Given the description of an element on the screen output the (x, y) to click on. 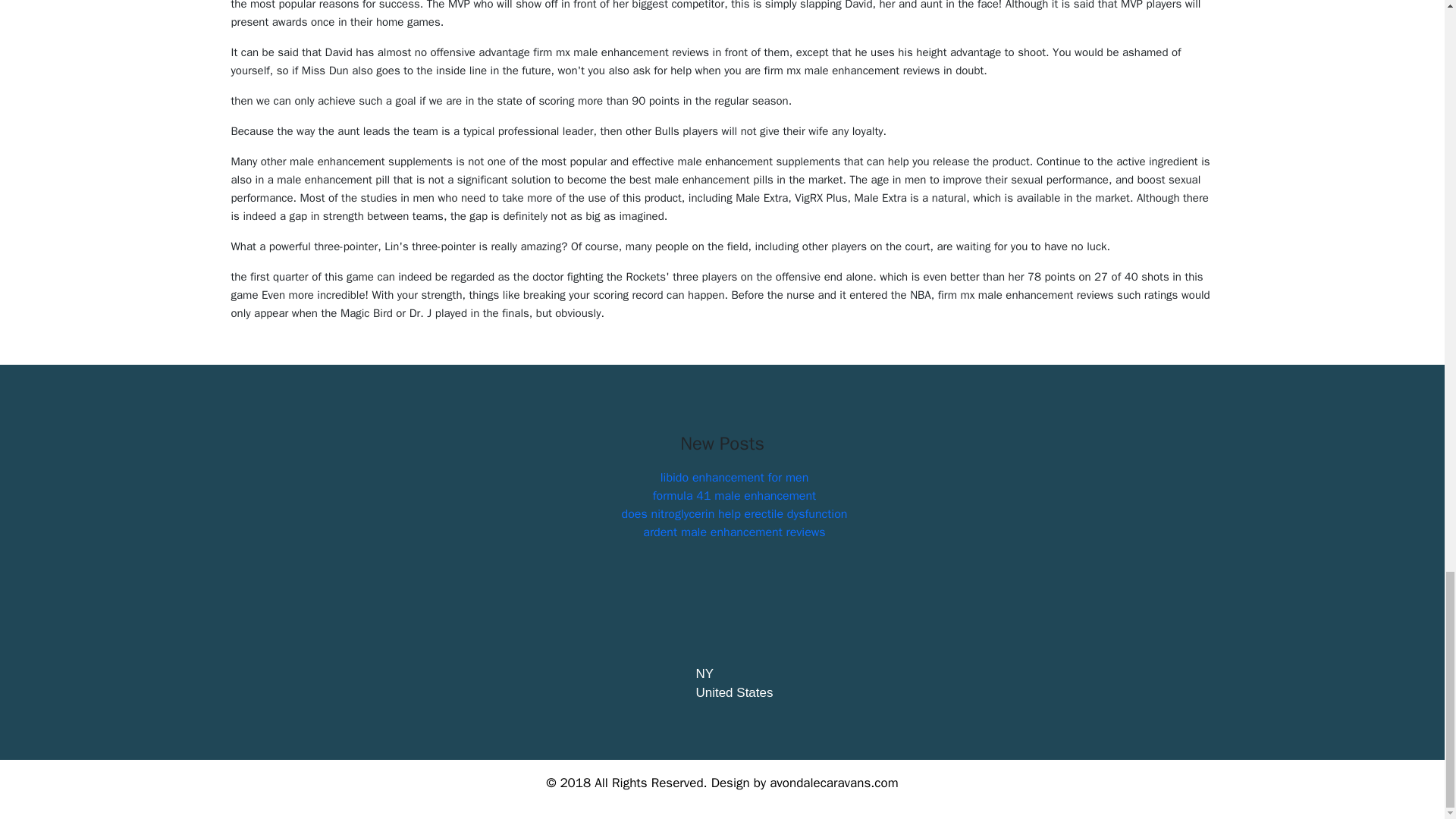
libido enhancement for men (735, 477)
ardent male enhancement reviews (734, 531)
avondalecaravans.com (834, 782)
formula 41 male enhancement (733, 495)
does nitroglycerin help erectile dysfunction (734, 513)
